Given the description of an element on the screen output the (x, y) to click on. 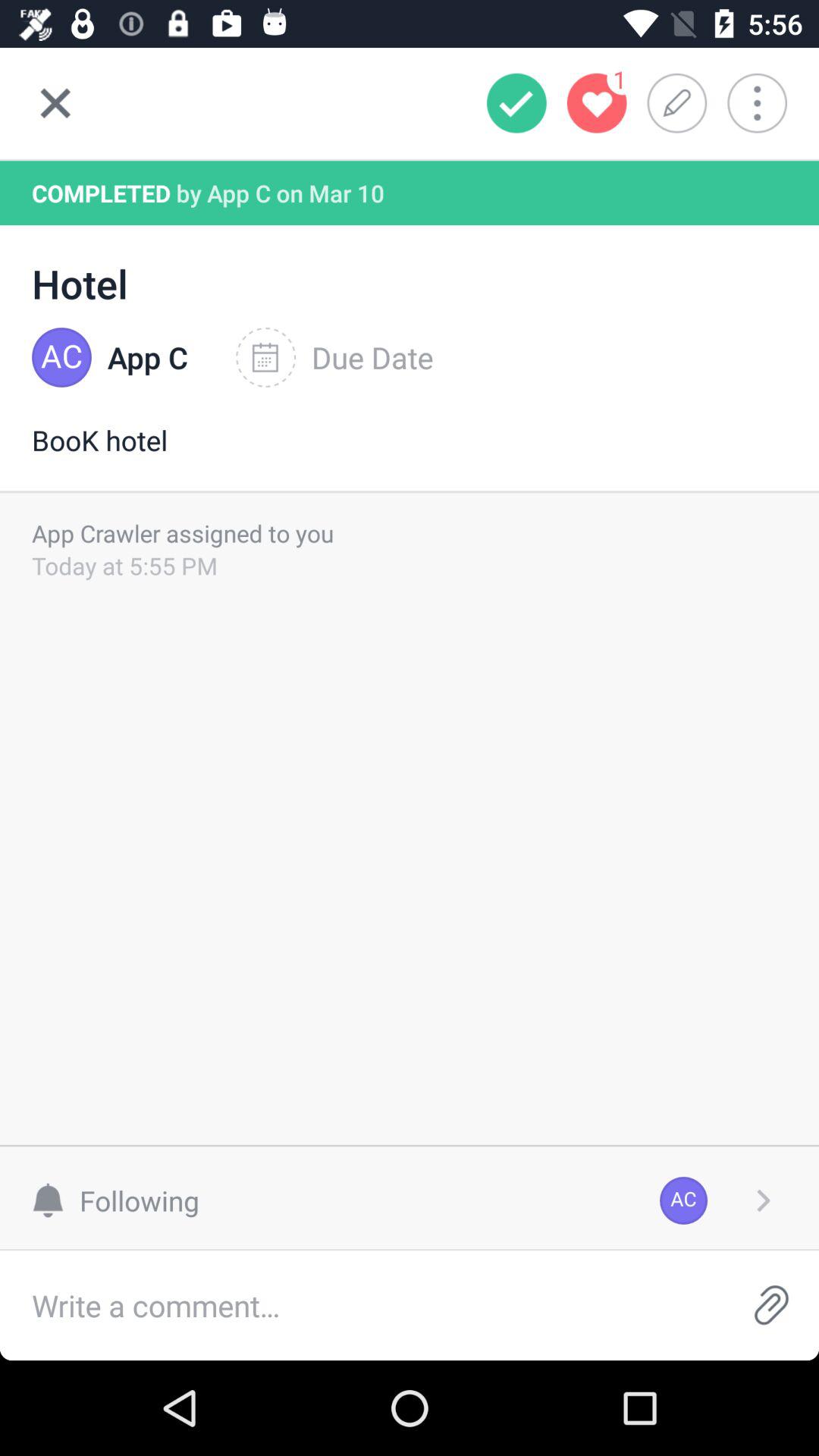
select the icon to the right of the app c icon (334, 357)
